Given the description of an element on the screen output the (x, y) to click on. 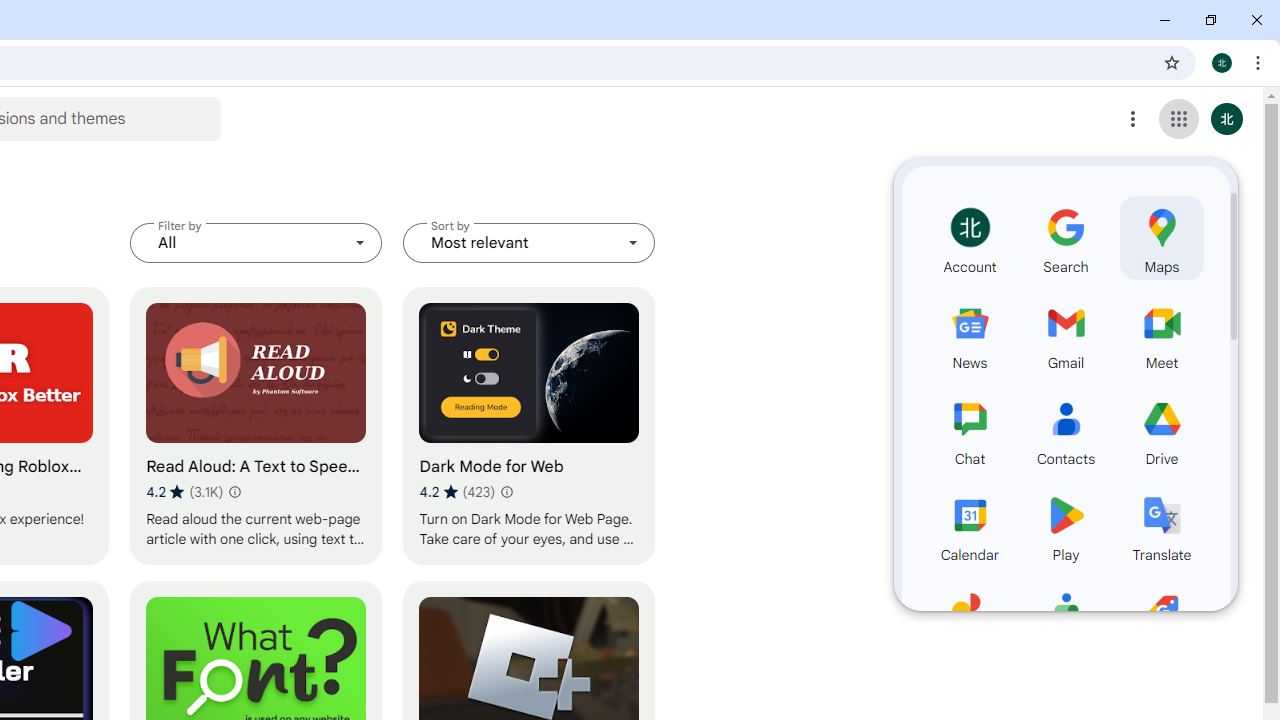
More options menu (1133, 118)
Google apps (1178, 118)
Chrome (1260, 62)
Restore (1210, 20)
Bookmark this tab (1171, 62)
Dark Mode for Web (529, 426)
Read Aloud: A Text to Speech Voice Reader (256, 426)
Filter by All (256, 242)
